Given the description of an element on the screen output the (x, y) to click on. 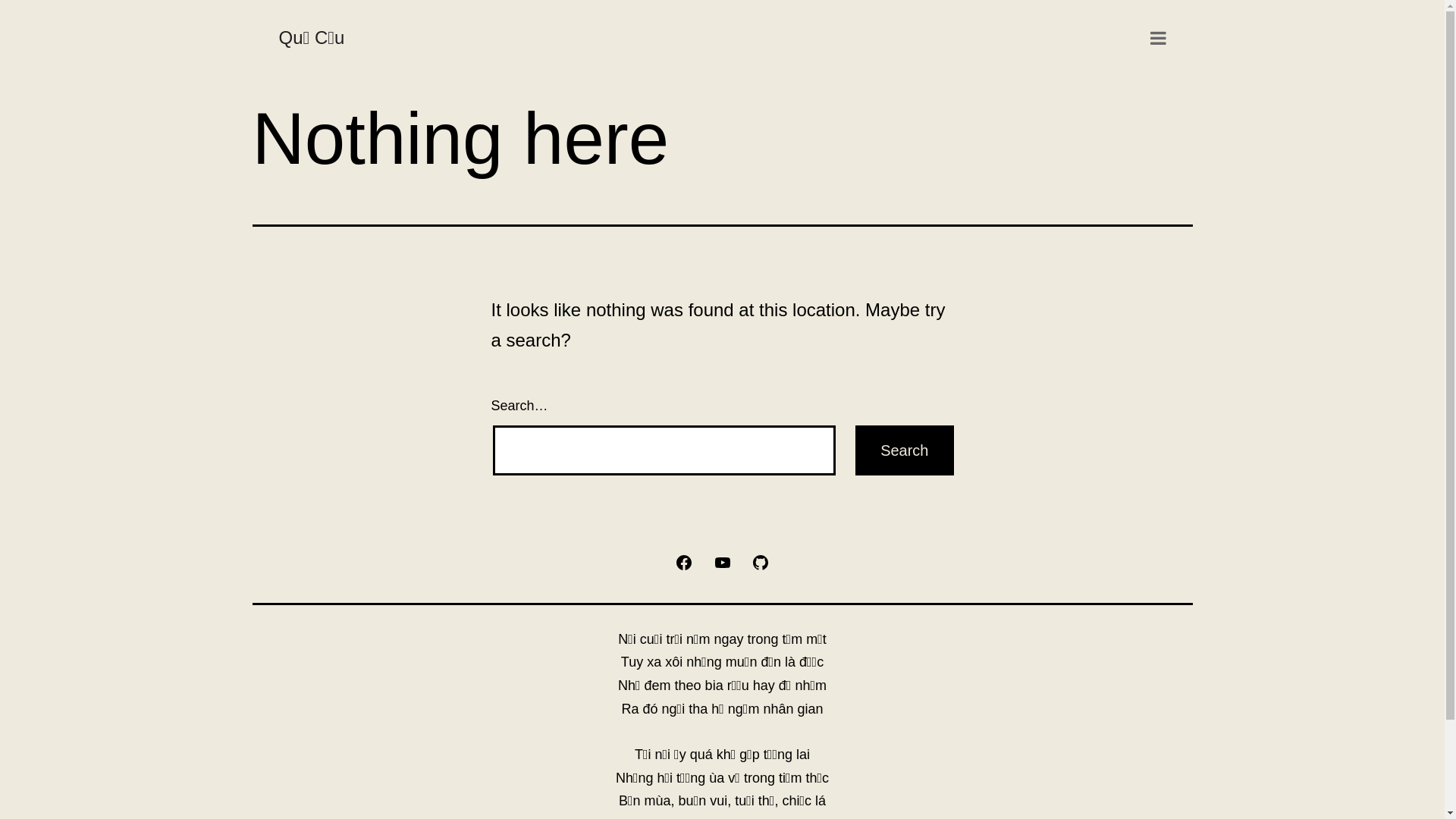
Search Element type: text (904, 450)
YouTube Element type: text (721, 561)
GitHub Element type: text (760, 561)
Facebook Element type: text (683, 561)
